Given the description of an element on the screen output the (x, y) to click on. 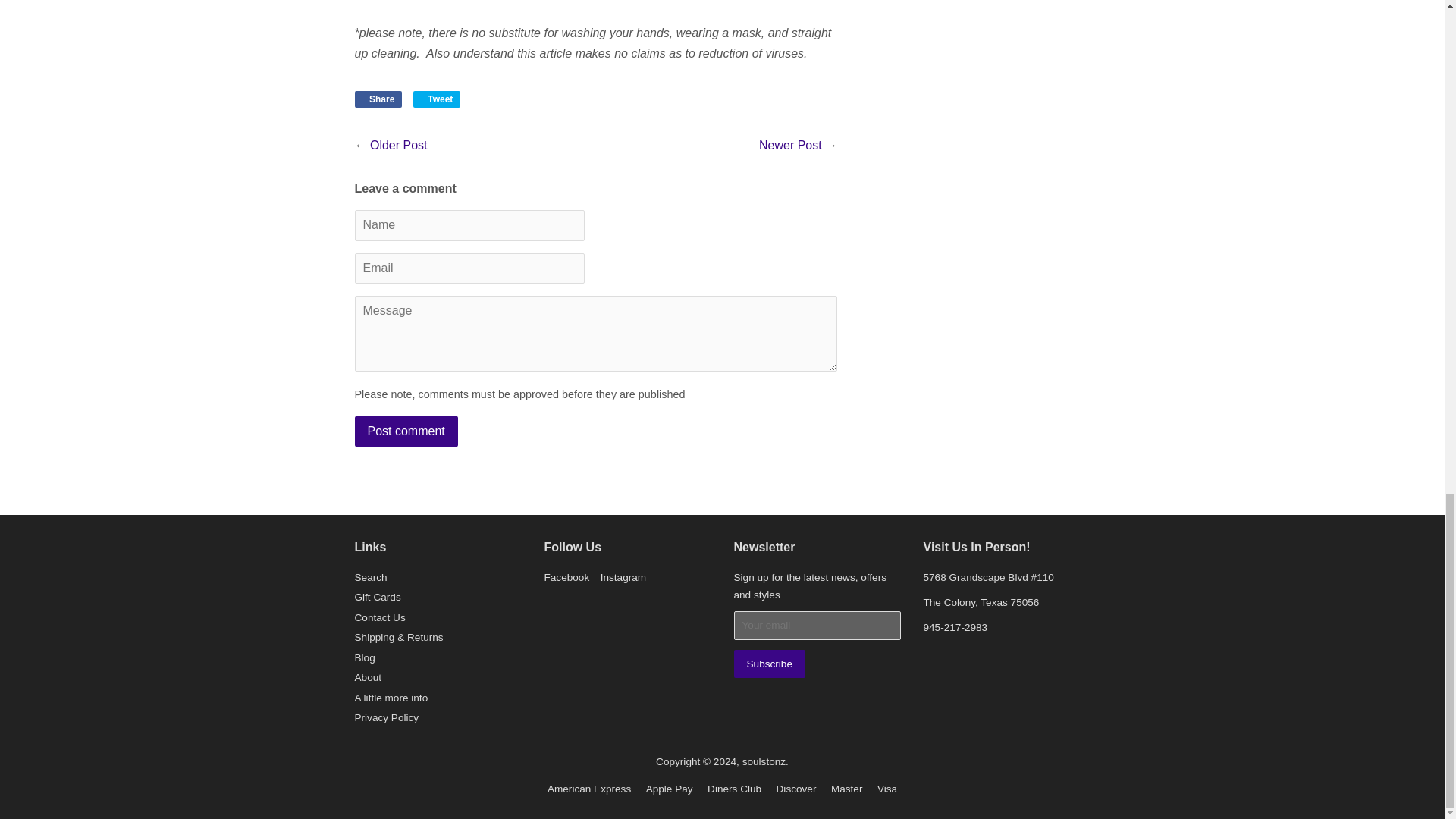
Share on Facebook (379, 98)
Subscribe (769, 664)
soulstonz on Instagram (622, 577)
Tweet on Twitter (437, 98)
Post comment (406, 431)
soulstonz on Facebook (566, 577)
